Given the description of an element on the screen output the (x, y) to click on. 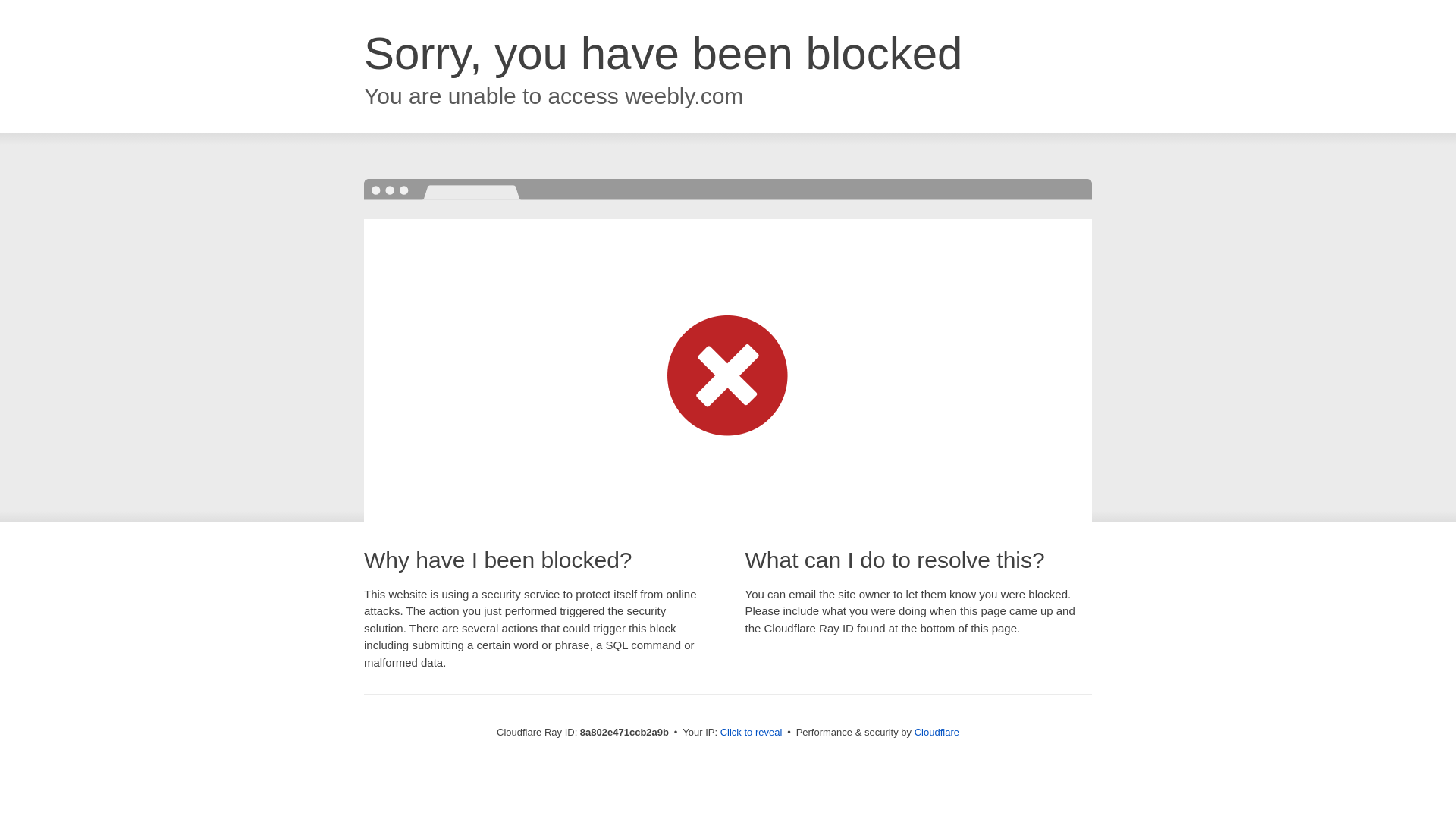
Click to reveal (751, 732)
Cloudflare (936, 731)
